Given the description of an element on the screen output the (x, y) to click on. 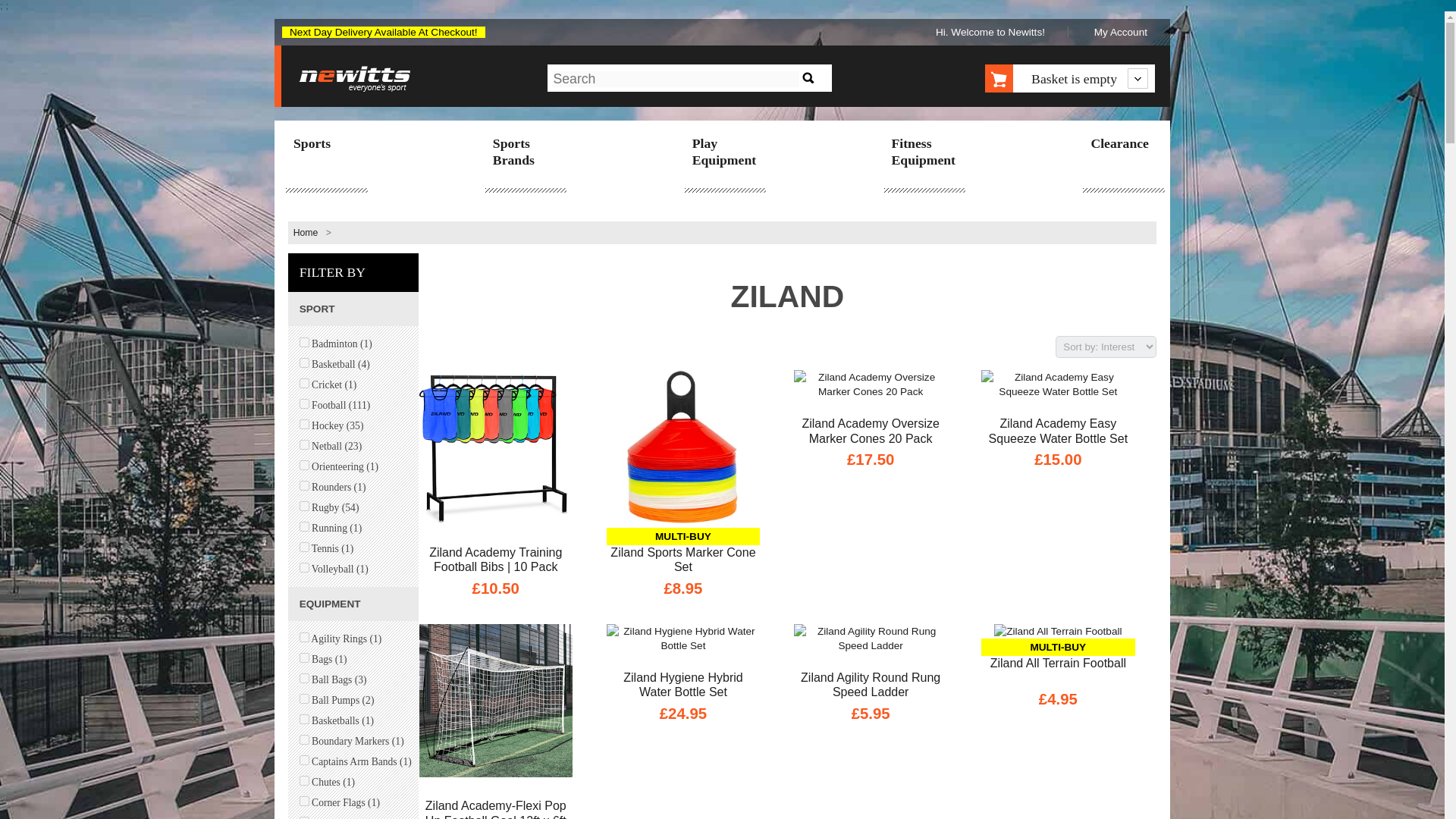
Ziland Academy Oversize Marker Cones 20 Pack (870, 430)
Search (807, 77)
Search (807, 77)
Netball (303, 444)
Clearance (1122, 145)
Ziland Academy-Flexi Pop Up Football Goal 12ft x 6ft (495, 808)
Boundary Markers (303, 739)
Play Equipment (724, 153)
Ziland Hygiene Hybrid Water Bottle Set (683, 684)
Badminton (303, 342)
